Given the description of an element on the screen output the (x, y) to click on. 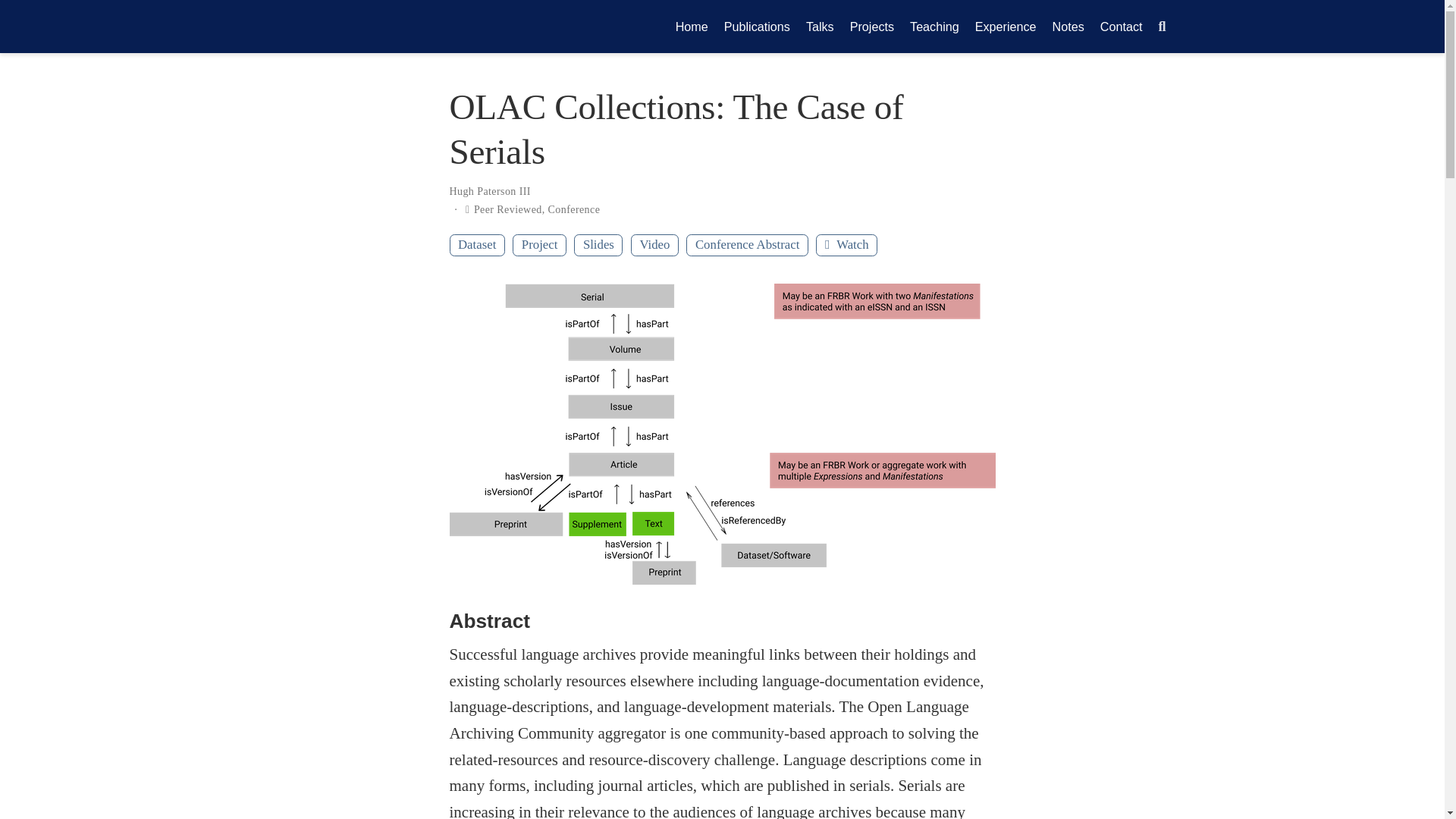
Teaching (935, 25)
Dataset (475, 245)
Conference (573, 209)
Notes (1067, 25)
Experience (1004, 25)
Home (691, 25)
Project (539, 245)
Hugh Paterson III (488, 191)
Video (654, 245)
Projects (871, 25)
Slides (598, 245)
Contact (1121, 25)
Conference Abstract (746, 245)
Peer Reviewed (507, 209)
Talks (819, 25)
